Given the description of an element on the screen output the (x, y) to click on. 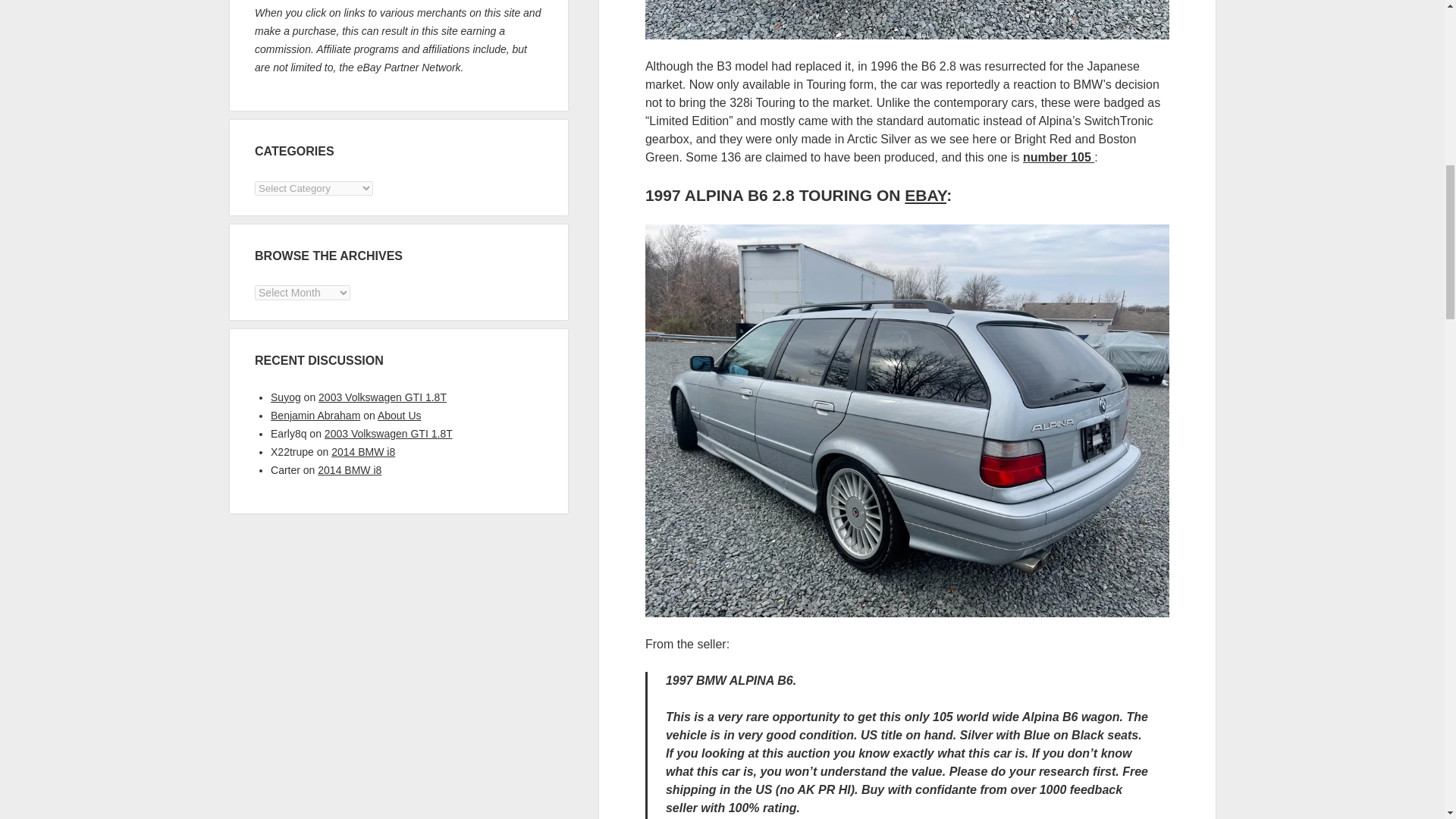
2014 BMW i8 (349, 469)
2014 BMW i8 (362, 451)
2003 Volkswagen GTI 1.8T (382, 397)
Suyog (285, 397)
number 105 (1058, 156)
About Us (399, 415)
EBAY (925, 194)
2003 Volkswagen GTI 1.8T (388, 433)
Benjamin Abraham (314, 415)
